Given the description of an element on the screen output the (x, y) to click on. 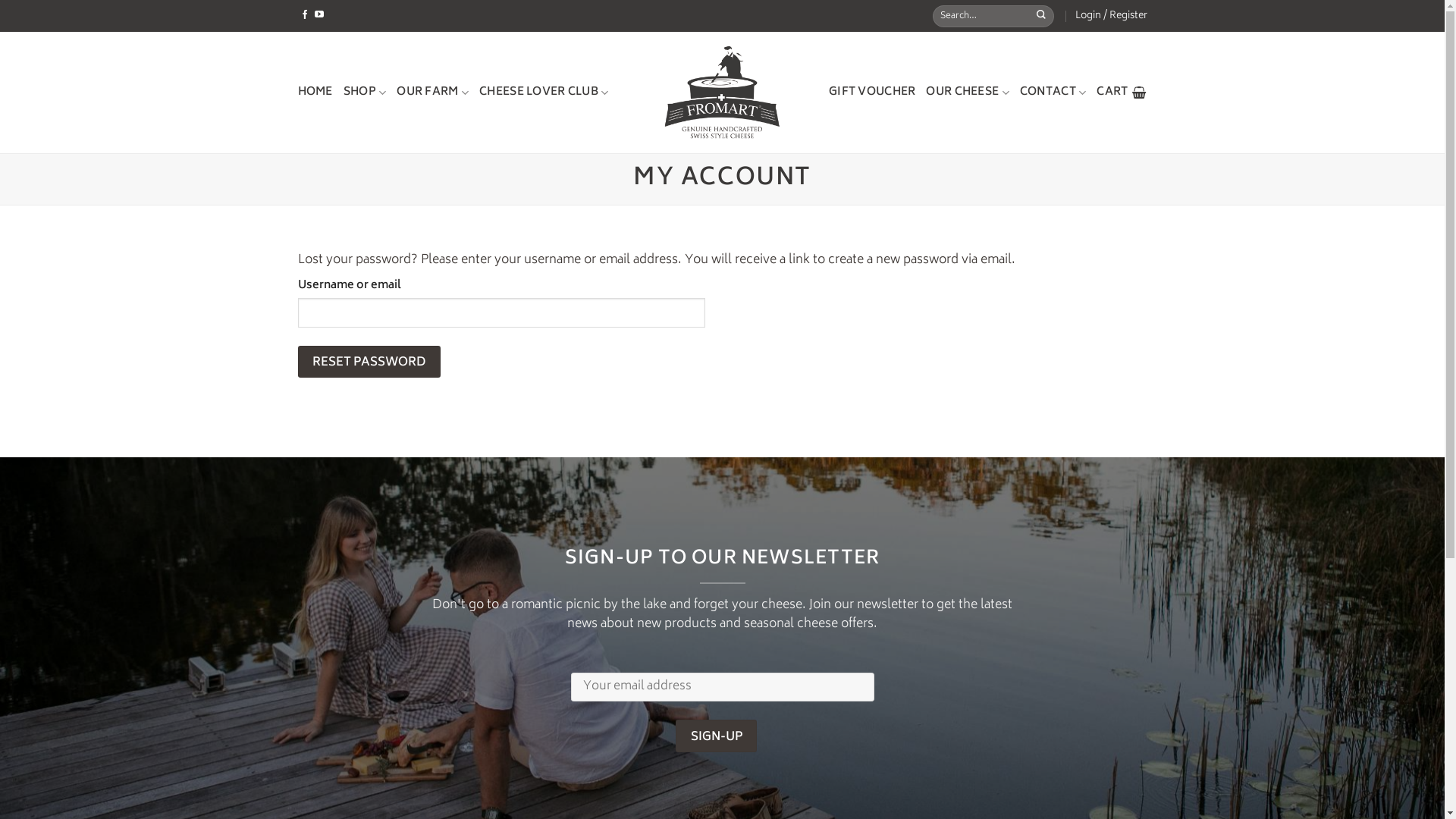
CHEESE LOVER CLUB Element type: text (543, 92)
Login / Register Element type: text (1111, 15)
OUR CHEESE Element type: text (966, 92)
Sign-up Element type: text (715, 735)
Follow on YouTube Element type: hover (318, 14)
HOME Element type: text (314, 92)
Fromart Element type: hover (722, 92)
CONTACT Element type: text (1052, 92)
RESET PASSWORD Element type: text (368, 361)
CART Element type: text (1121, 92)
SHOP Element type: text (364, 92)
OUR FARM Element type: text (432, 92)
Follow on Facebook Element type: hover (304, 14)
GIFT VOUCHER Element type: text (871, 92)
Search Element type: text (1043, 15)
